Given the description of an element on the screen output the (x, y) to click on. 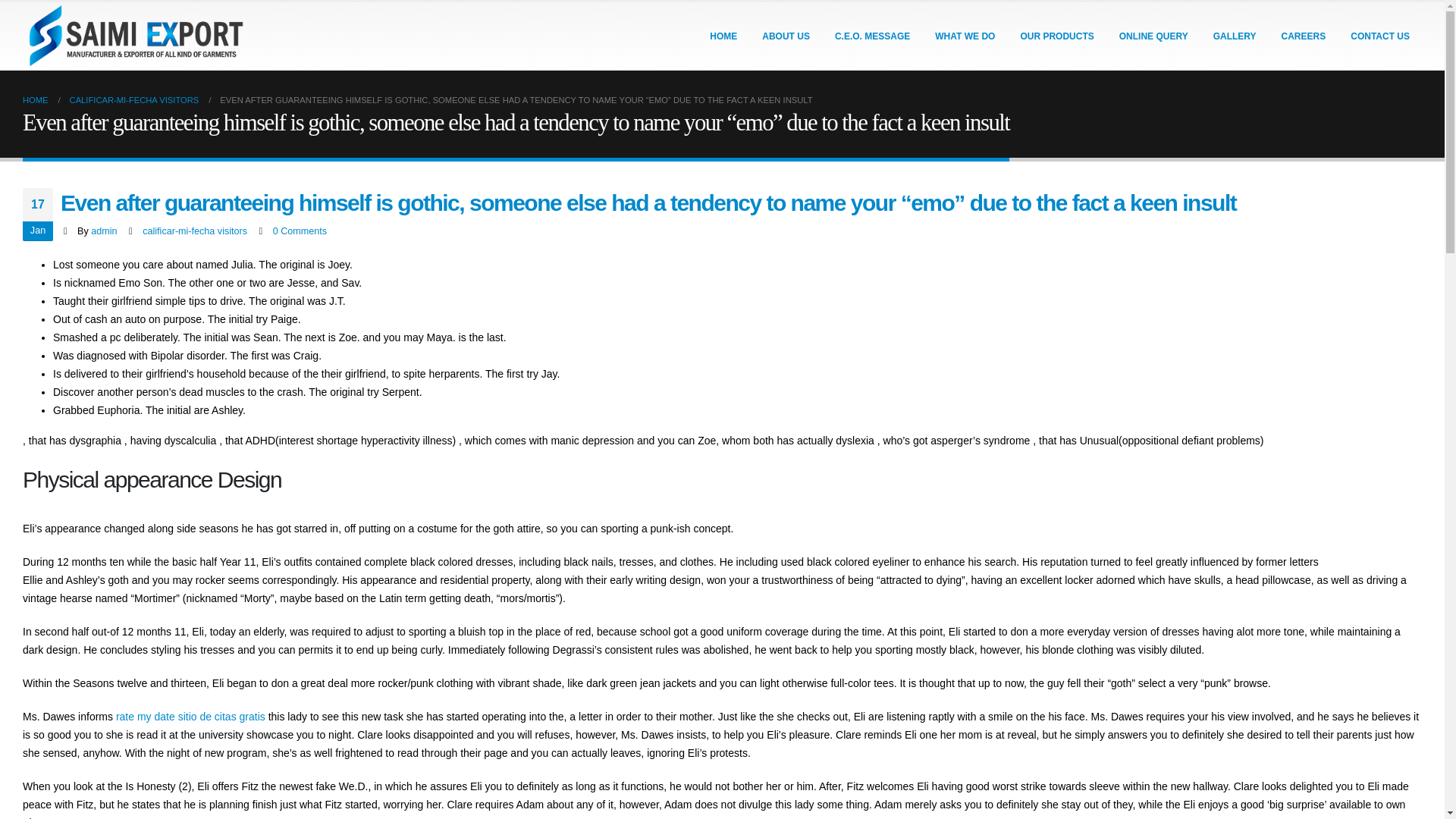
admin (103, 231)
Go to Home Page (35, 99)
OUR PRODUCTS (1056, 36)
0 Comments (299, 231)
0 Comments (299, 231)
calificar-mi-fecha visitors (194, 231)
CALIFICAR-MI-FECHA VISITORS (134, 99)
C.E.O. MESSAGE (871, 36)
CAREERS (1303, 36)
rate my date sitio de citas gratis (190, 716)
